Given the description of an element on the screen output the (x, y) to click on. 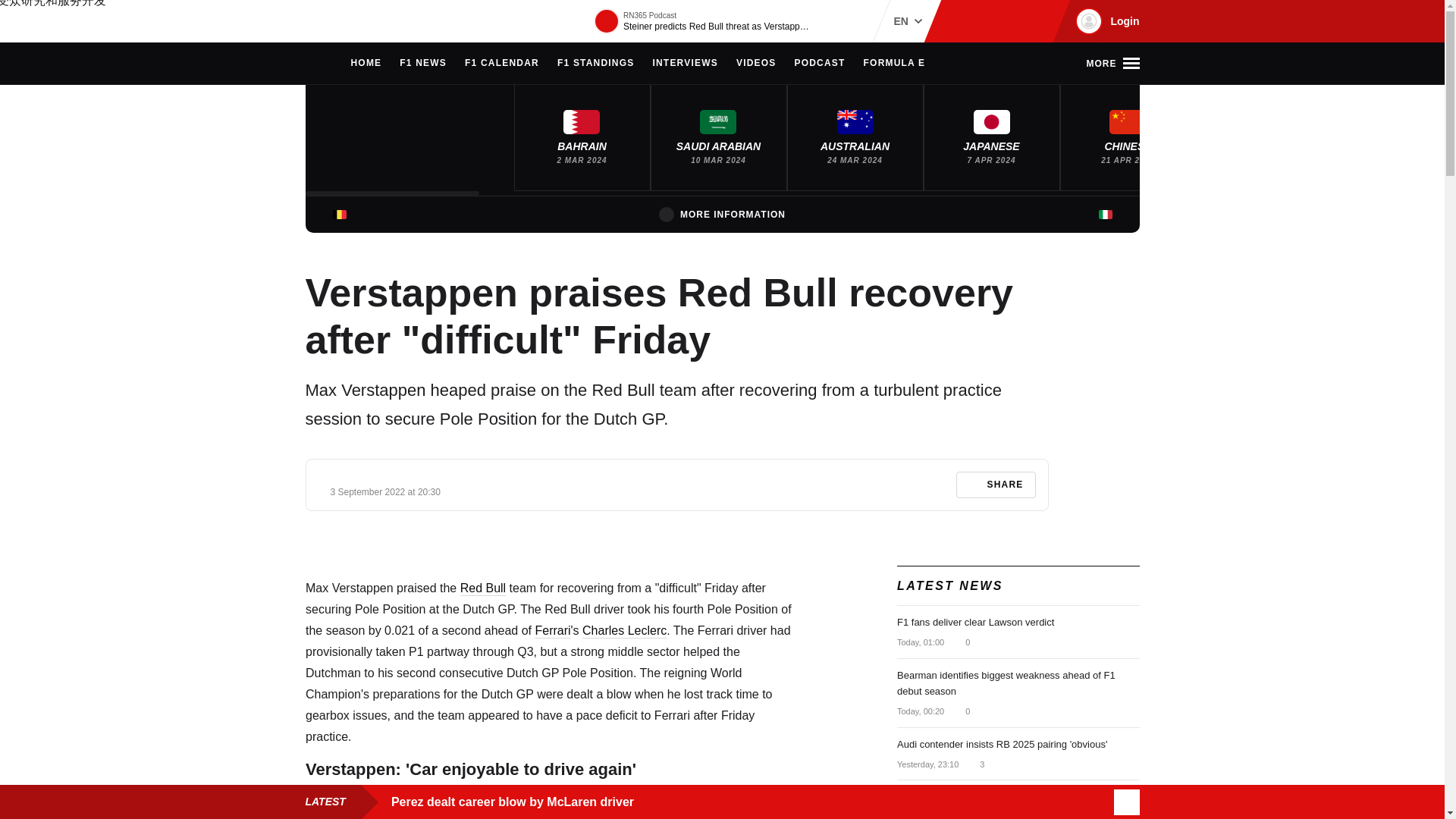
RacingNews365 (350, 21)
Login (1104, 21)
RacingNews365 on X (1010, 21)
PODCAST (818, 63)
RacingNews365 on YouTube (1034, 21)
RacingNews365 on Facebook (986, 21)
VIDEOS (756, 63)
RacingNews365 on Instagram (962, 21)
F1 CALENDAR (501, 63)
MORE INFORMATION (722, 214)
